Given the description of an element on the screen output the (x, y) to click on. 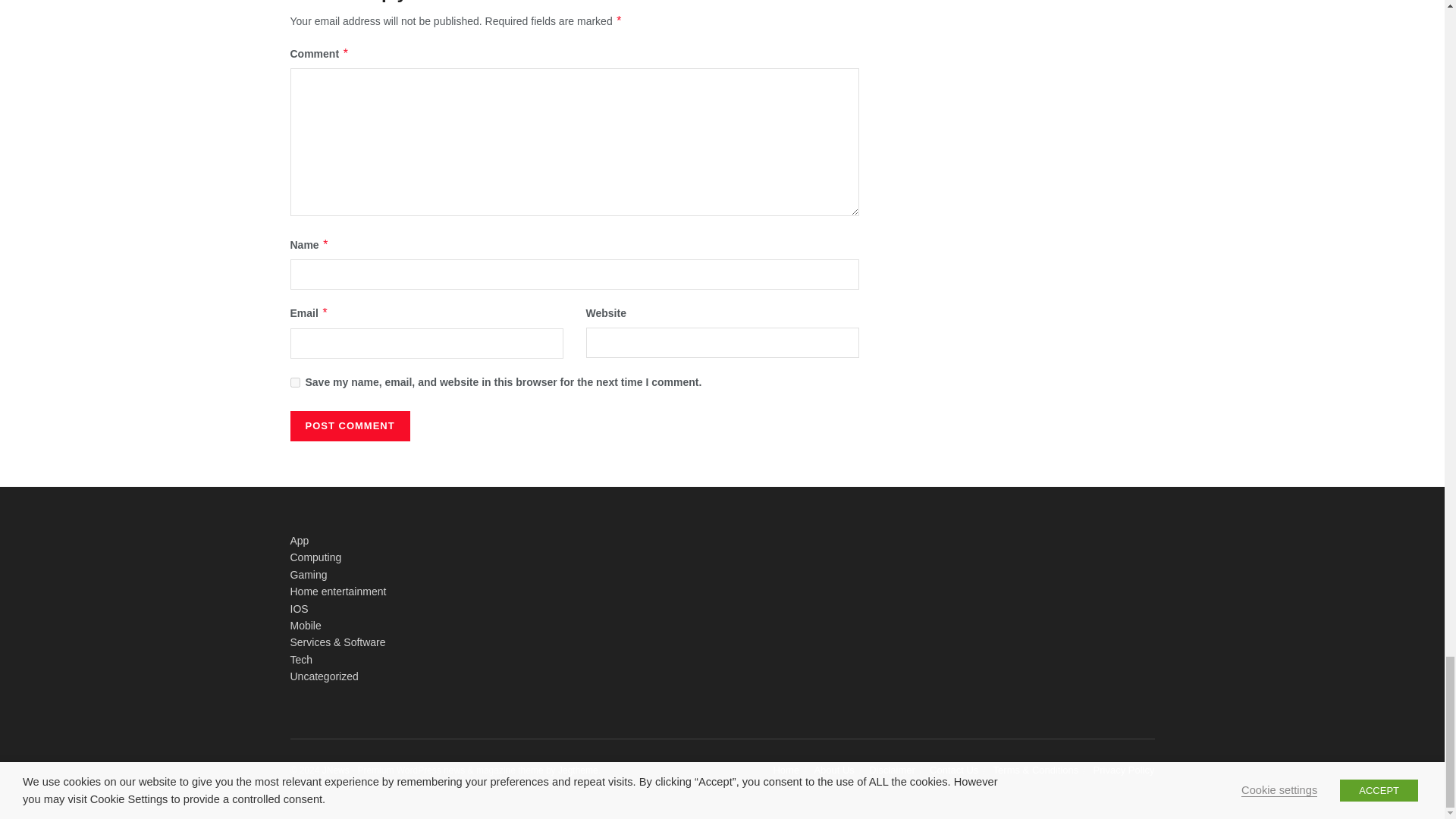
Post Comment (349, 426)
Jegtheme (577, 769)
yes (294, 382)
